Given the description of an element on the screen output the (x, y) to click on. 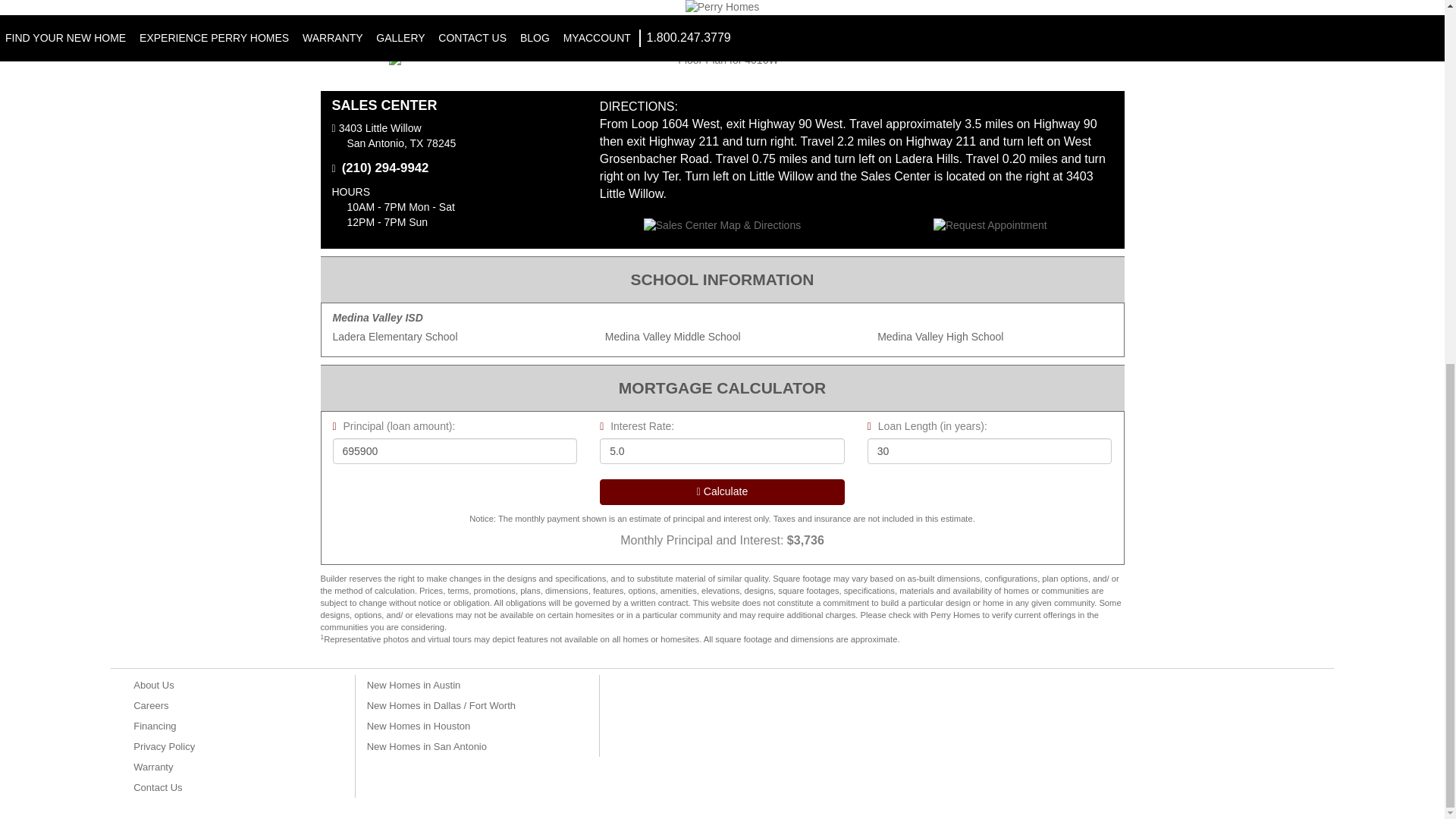
30 (989, 451)
5.0 (721, 451)
695900 (453, 451)
